Given the description of an element on the screen output the (x, y) to click on. 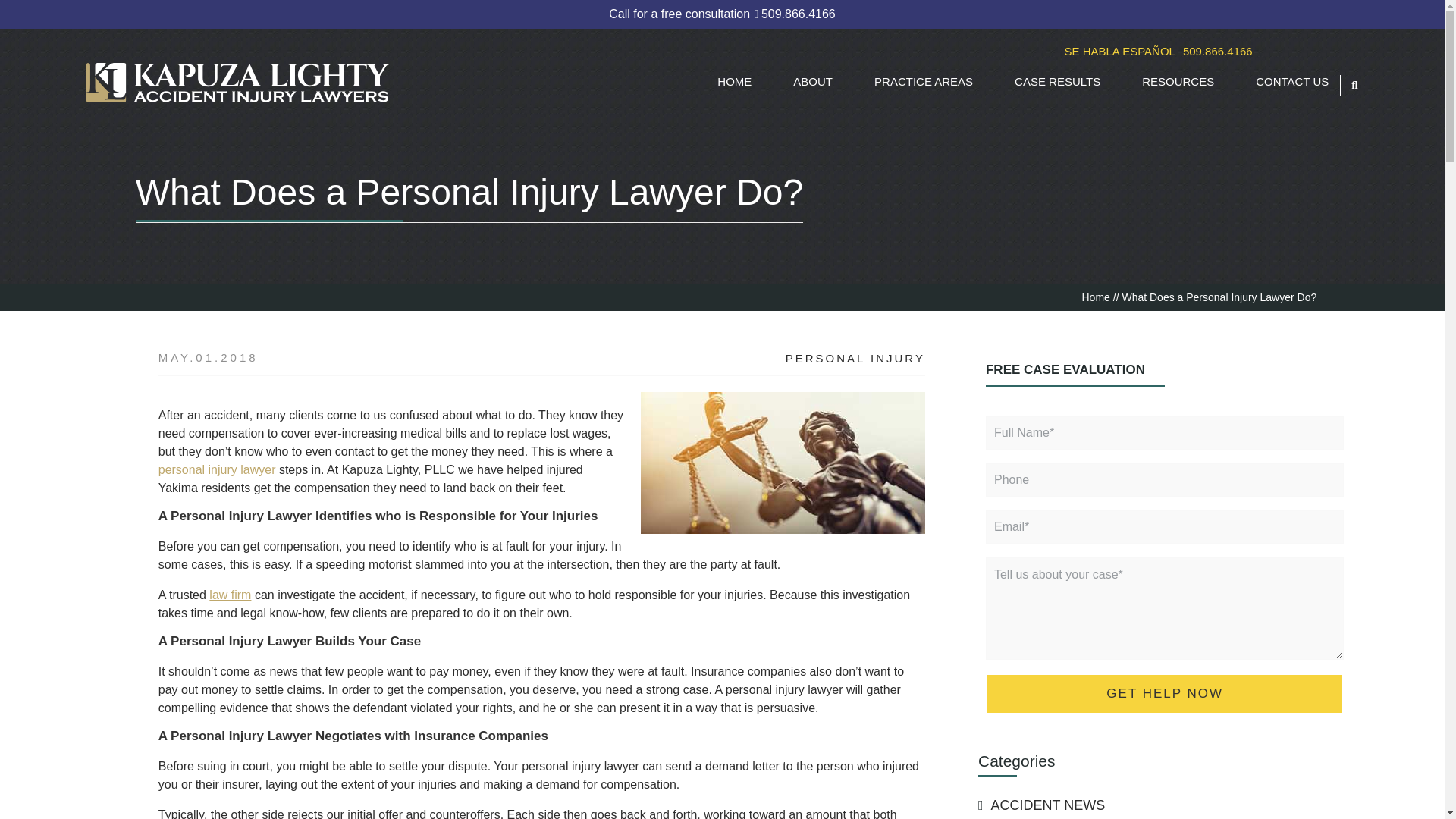
CASE RESULTS (1057, 81)
HOME (734, 81)
personal injury lawyer (217, 469)
CONTACT US (1291, 81)
Home (1095, 297)
509.866.4166 (1217, 51)
About Kapuza Lighty PLLC (812, 81)
Call (721, 14)
Contact Us (1217, 51)
Kapuza Lighty PLLC Home (240, 82)
